Given the description of an element on the screen output the (x, y) to click on. 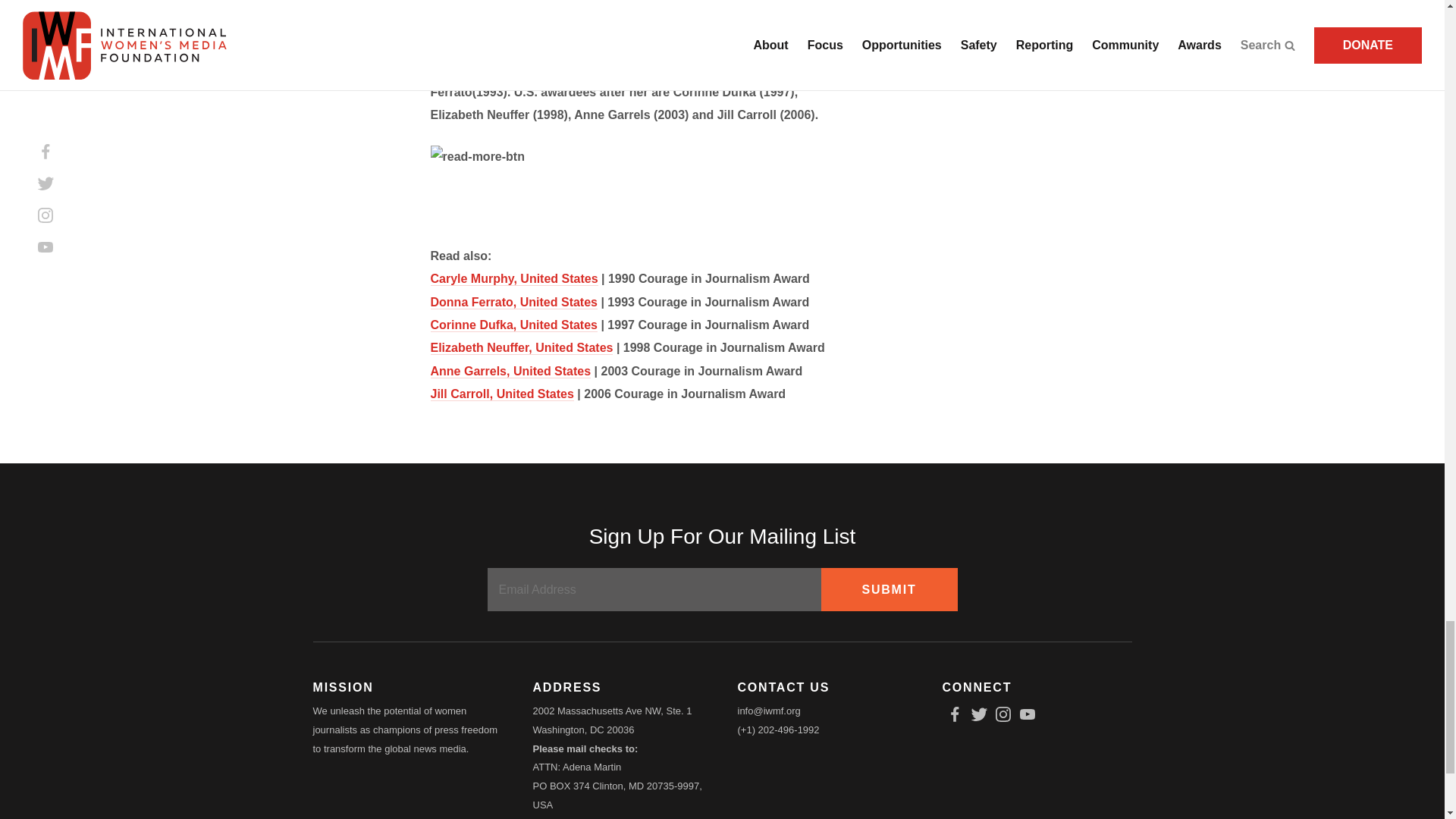
Submit (888, 589)
